Given the description of an element on the screen output the (x, y) to click on. 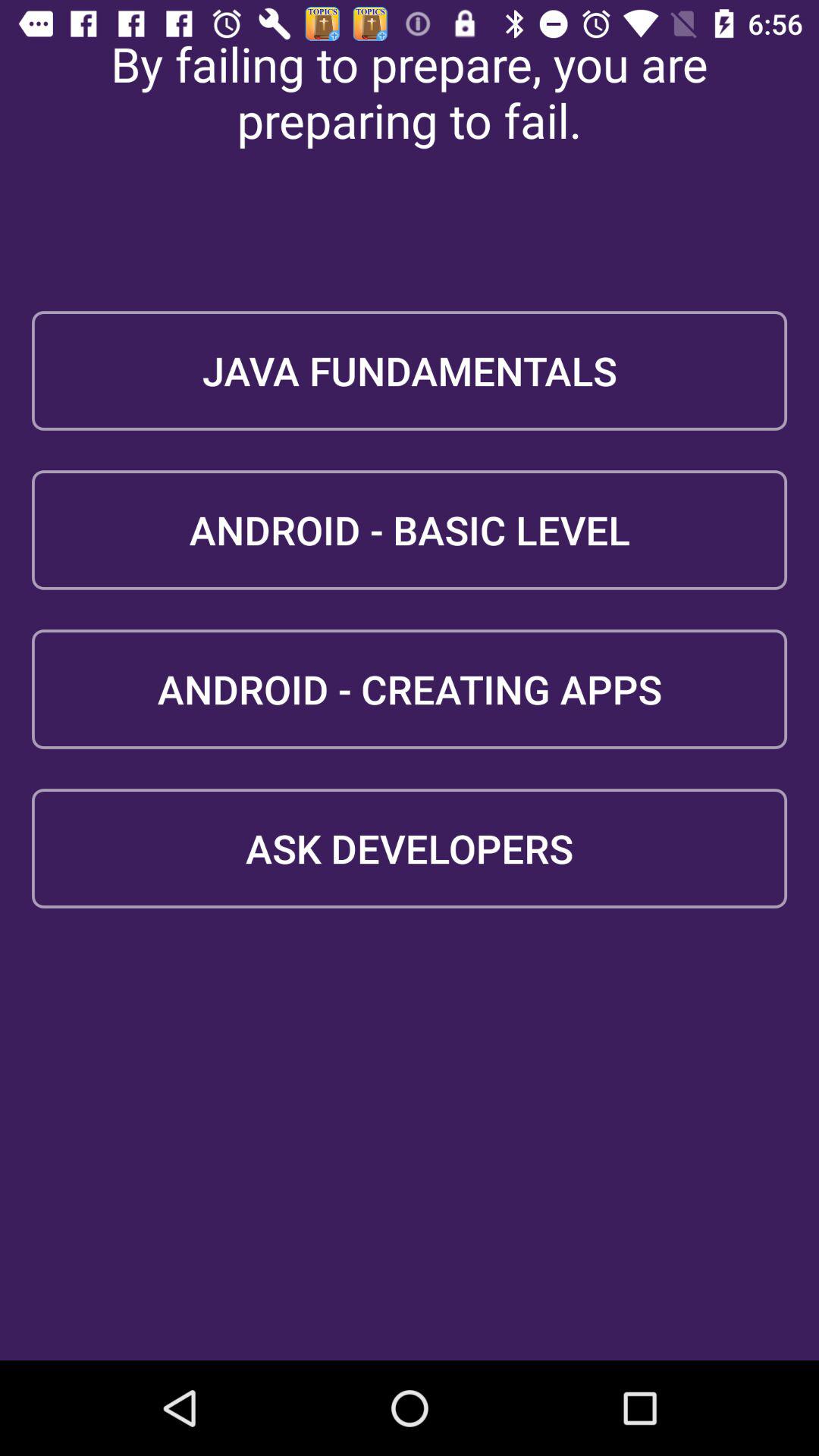
click the icon below android - creating apps item (409, 848)
